Given the description of an element on the screen output the (x, y) to click on. 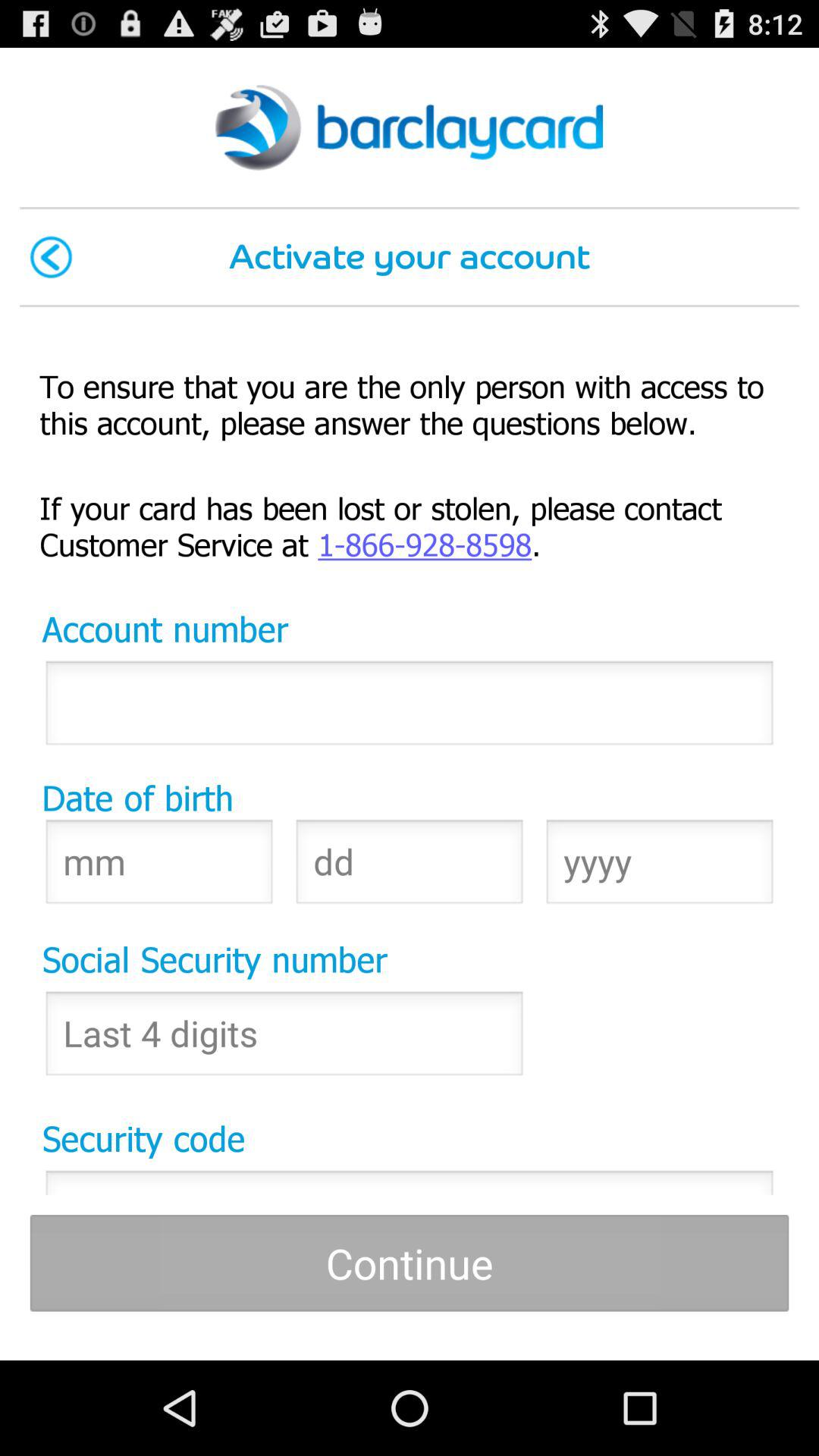
select if your card item (409, 525)
